Given the description of an element on the screen output the (x, y) to click on. 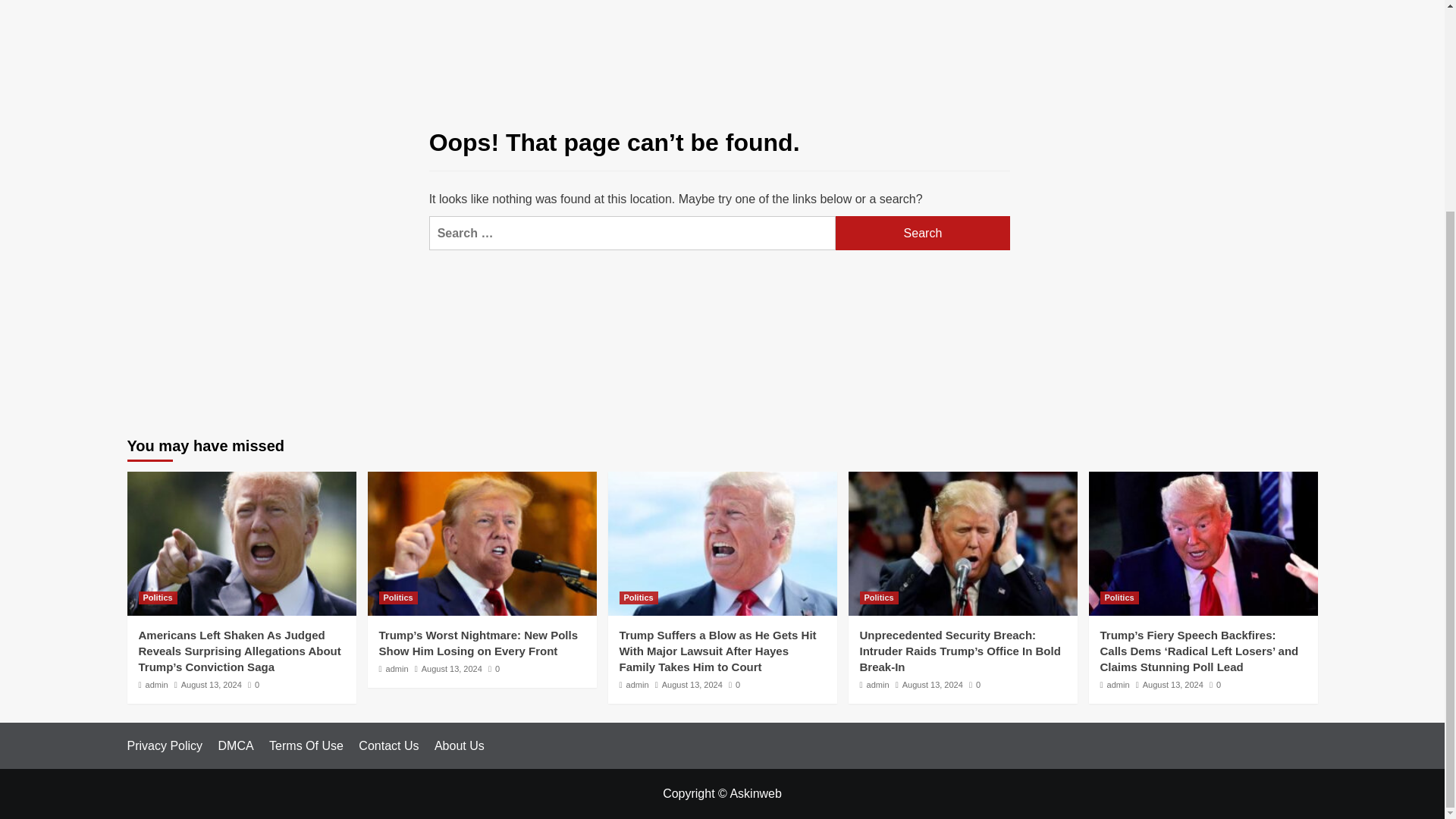
0 (253, 684)
August 13, 2024 (210, 684)
0 (974, 684)
admin (877, 684)
August 13, 2024 (692, 684)
Search (922, 233)
Politics (397, 597)
admin (1117, 684)
August 13, 2024 (932, 684)
